Given the description of an element on the screen output the (x, y) to click on. 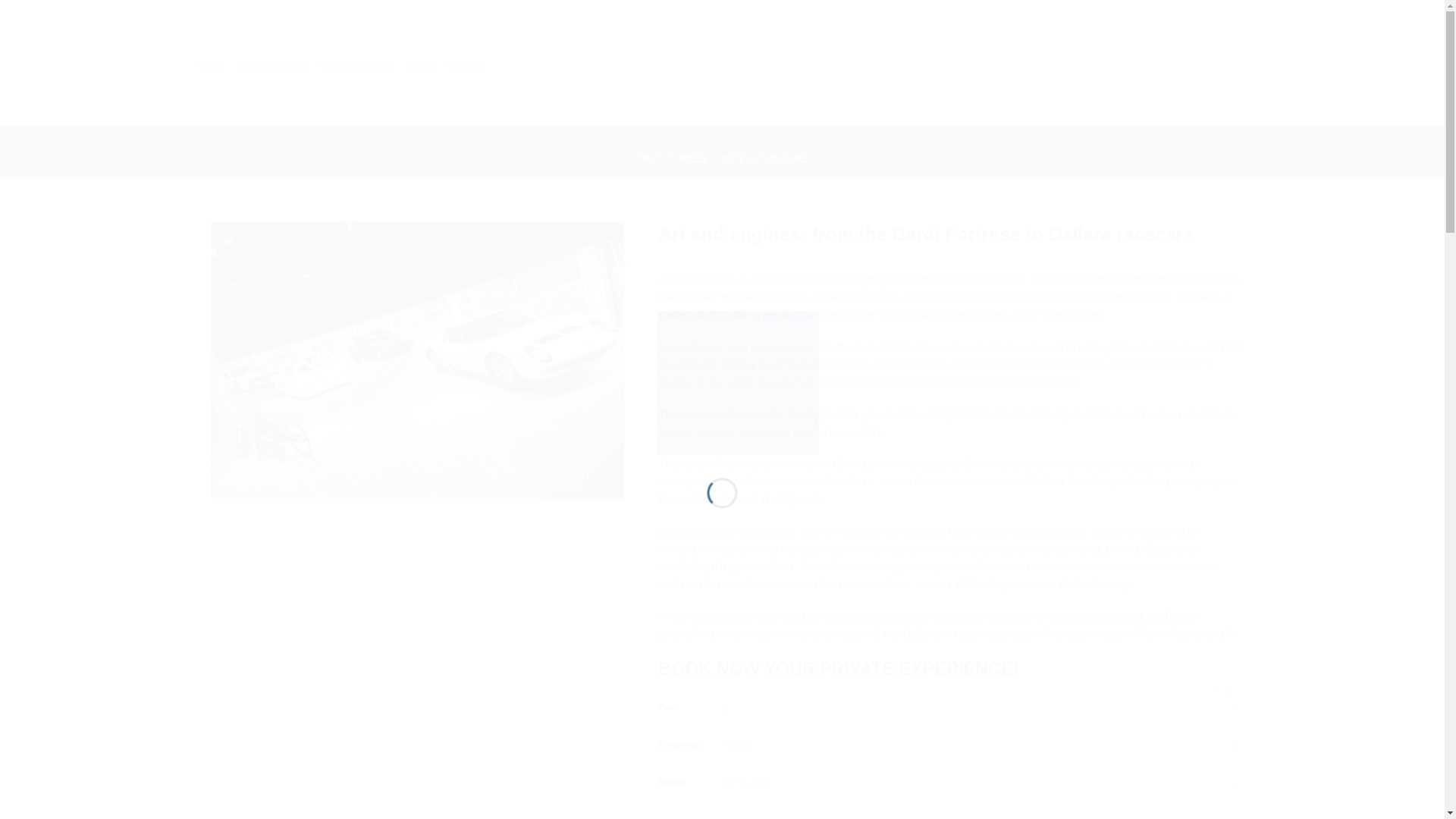
M.I.C.E. (469, 64)
CATEGORIES (670, 158)
HOME (210, 64)
Cart (1421, 65)
CLEAR (1231, 688)
Book Your Italy on line - Book Your Italy on line (92, 63)
Book Your Italy on line - Book Your Italy on line (730, 381)
DESTINATIONS (358, 64)
NEWS (421, 64)
